Given the description of an element on the screen output the (x, y) to click on. 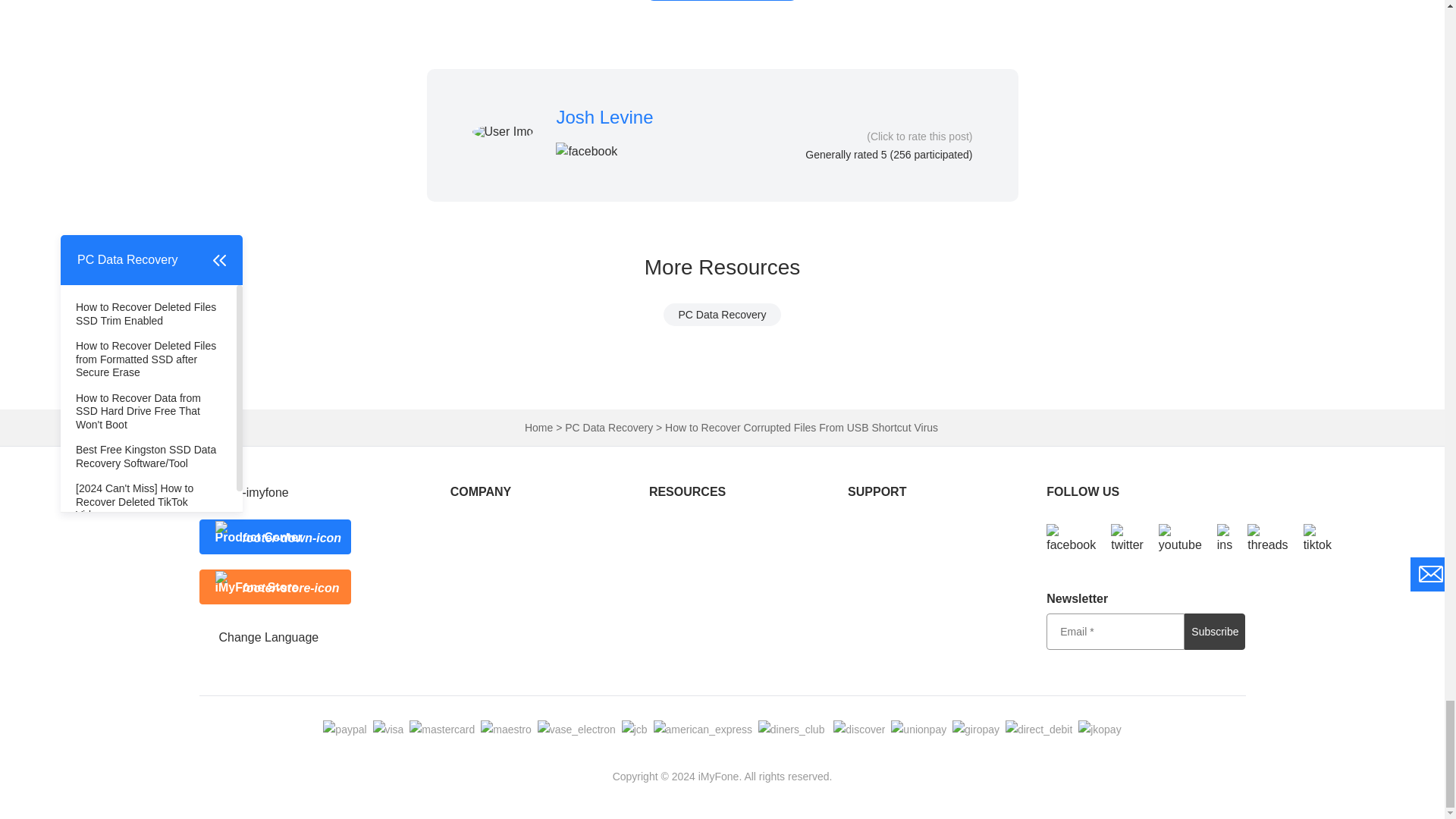
twitter (1126, 539)
tiktok (1317, 539)
facebook (1071, 539)
youtube (1180, 539)
threads (1267, 539)
